Given the description of an element on the screen output the (x, y) to click on. 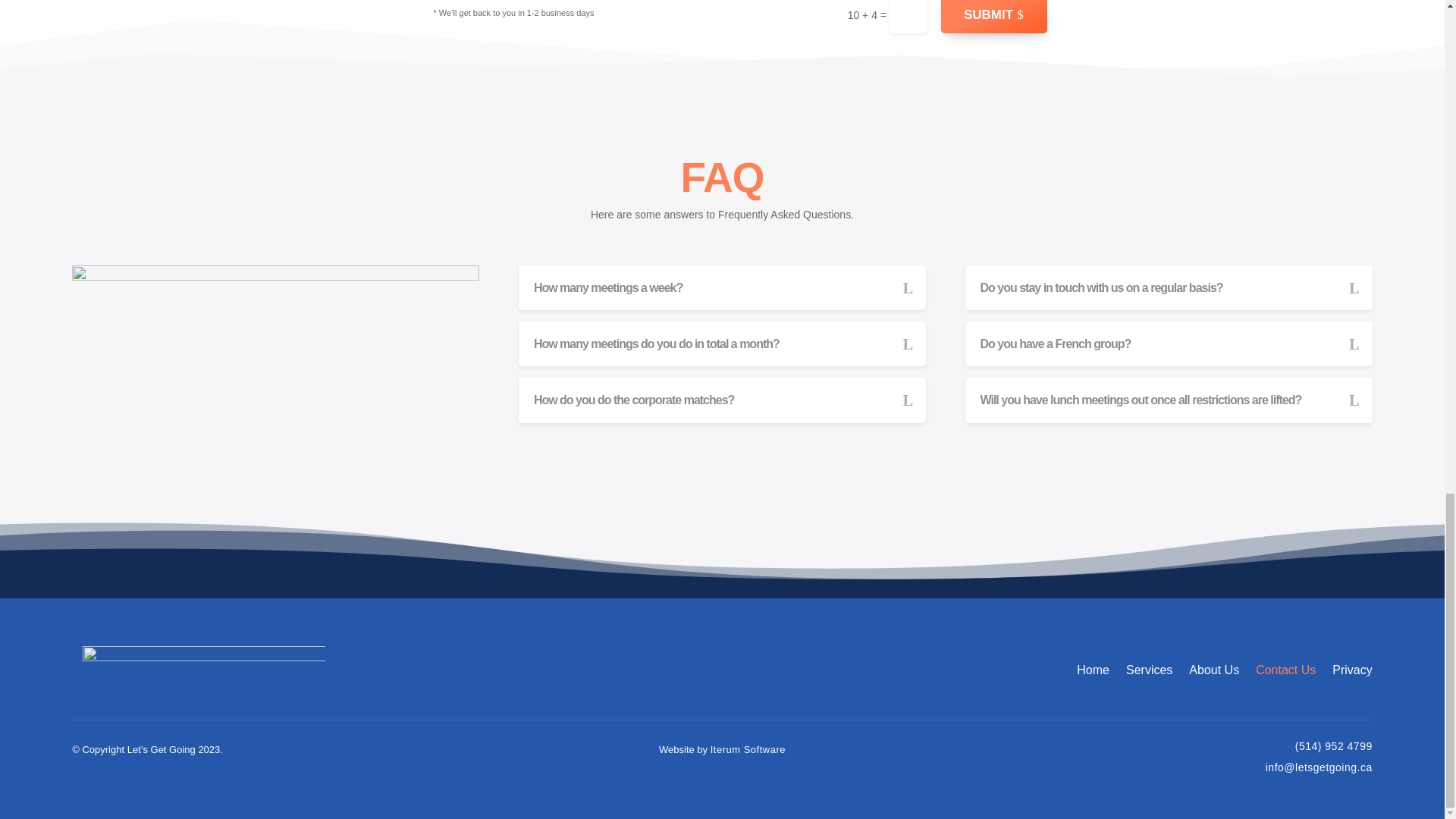
Contact Us (1285, 670)
Iterum Software (748, 751)
Iterum Software (748, 751)
pexels-christina-morillo-1181354 (275, 401)
SUBMIT (993, 16)
